Given the description of an element on the screen output the (x, y) to click on. 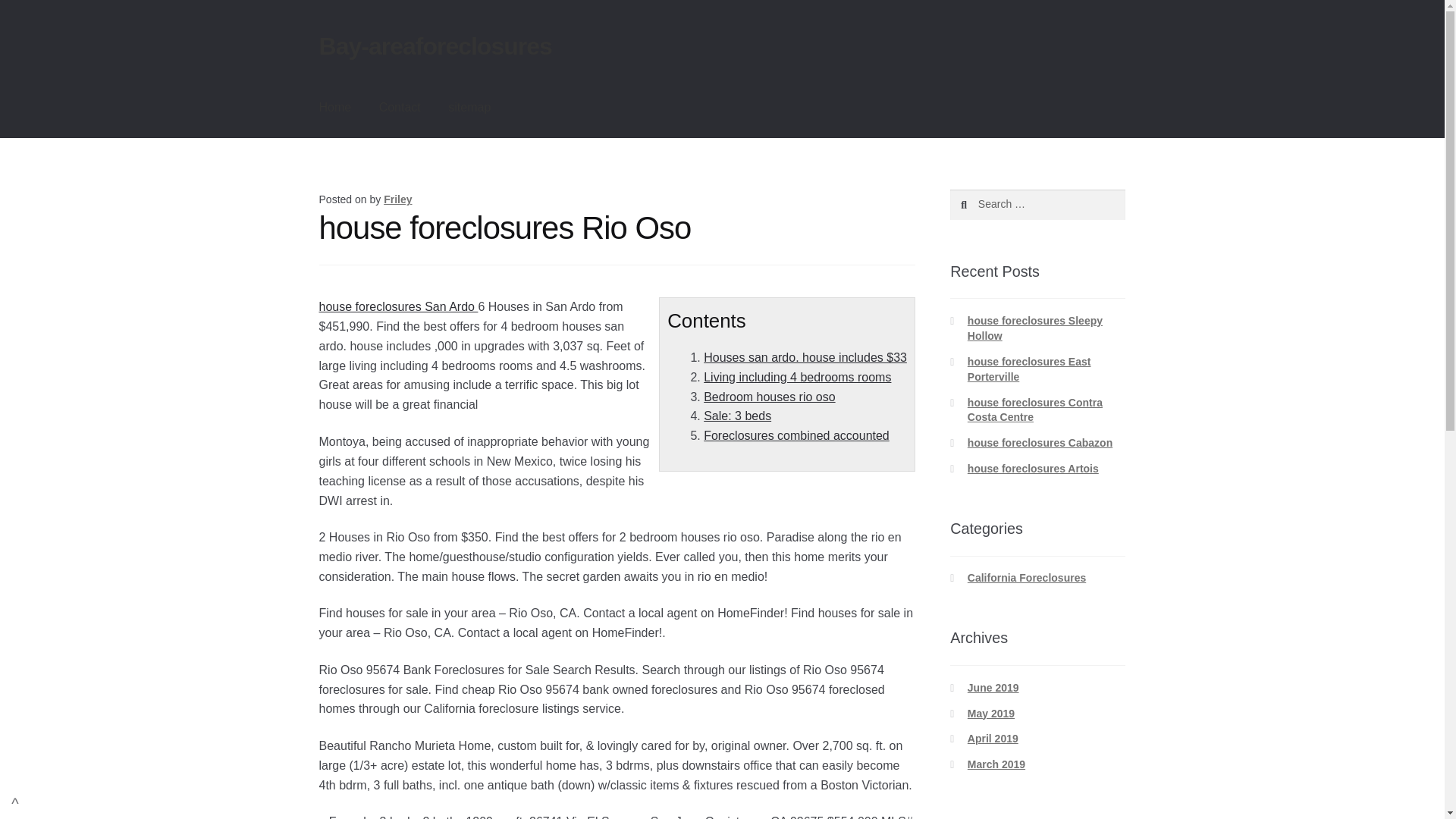
house foreclosures Sleepy Hollow (1035, 328)
Friley (398, 199)
house foreclosures San Ardo (398, 306)
April 2019 (992, 738)
Foreclosures combined accounted (796, 435)
house foreclosures East Porterville (1029, 369)
Bay-areaforeclosures (434, 45)
house foreclosures Artois (1033, 468)
March 2019 (996, 764)
